Given the description of an element on the screen output the (x, y) to click on. 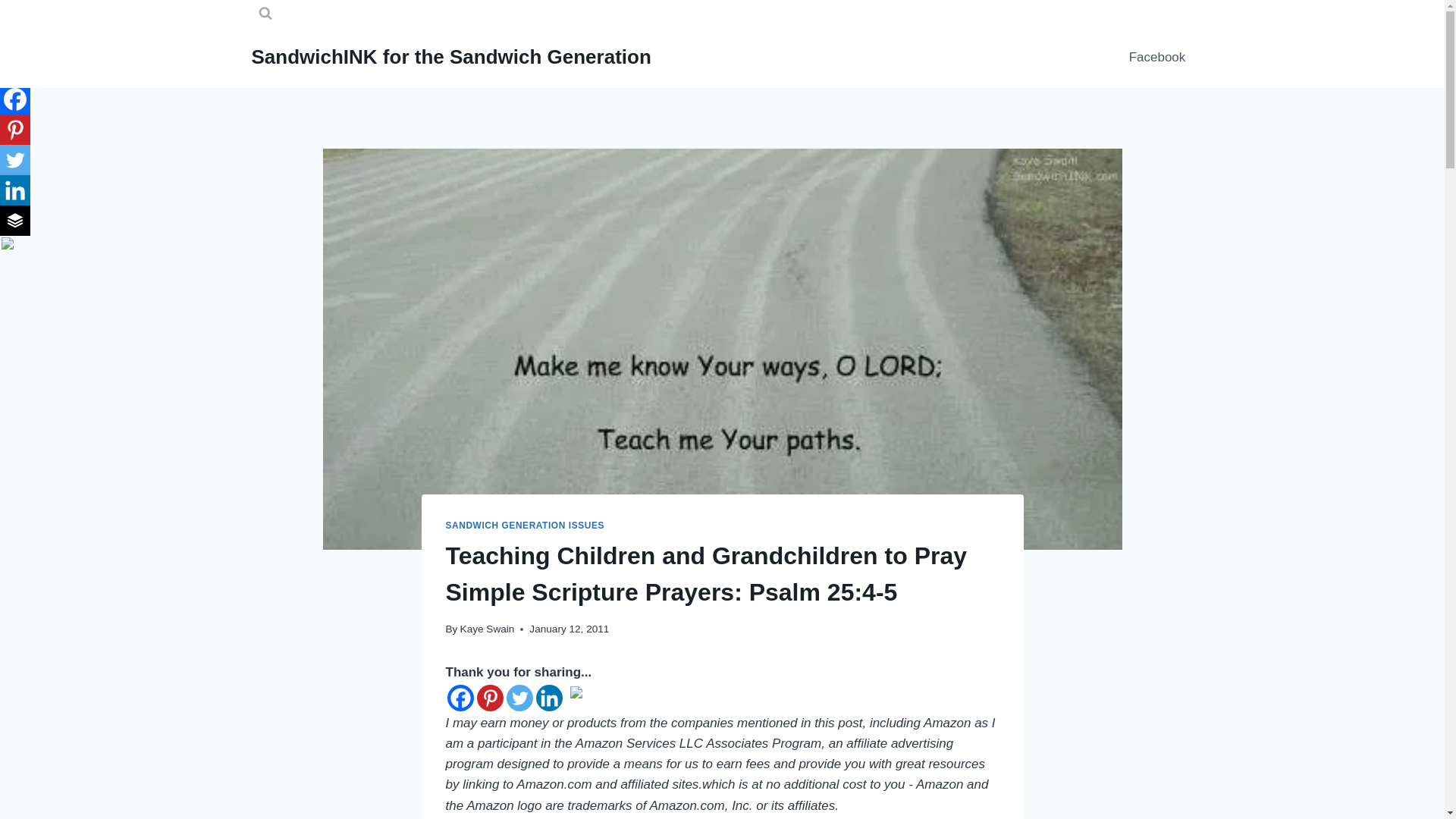
Facebook (1156, 57)
Linkedin (15, 190)
Facebook (460, 697)
Twitter (519, 697)
SANDWICH GENERATION ISSUES (524, 525)
Kaye Swain (487, 628)
Buffer (15, 220)
Twitter (15, 159)
Facebook (15, 99)
SandwichINK for the Sandwich Generation (450, 56)
